Given the description of an element on the screen output the (x, y) to click on. 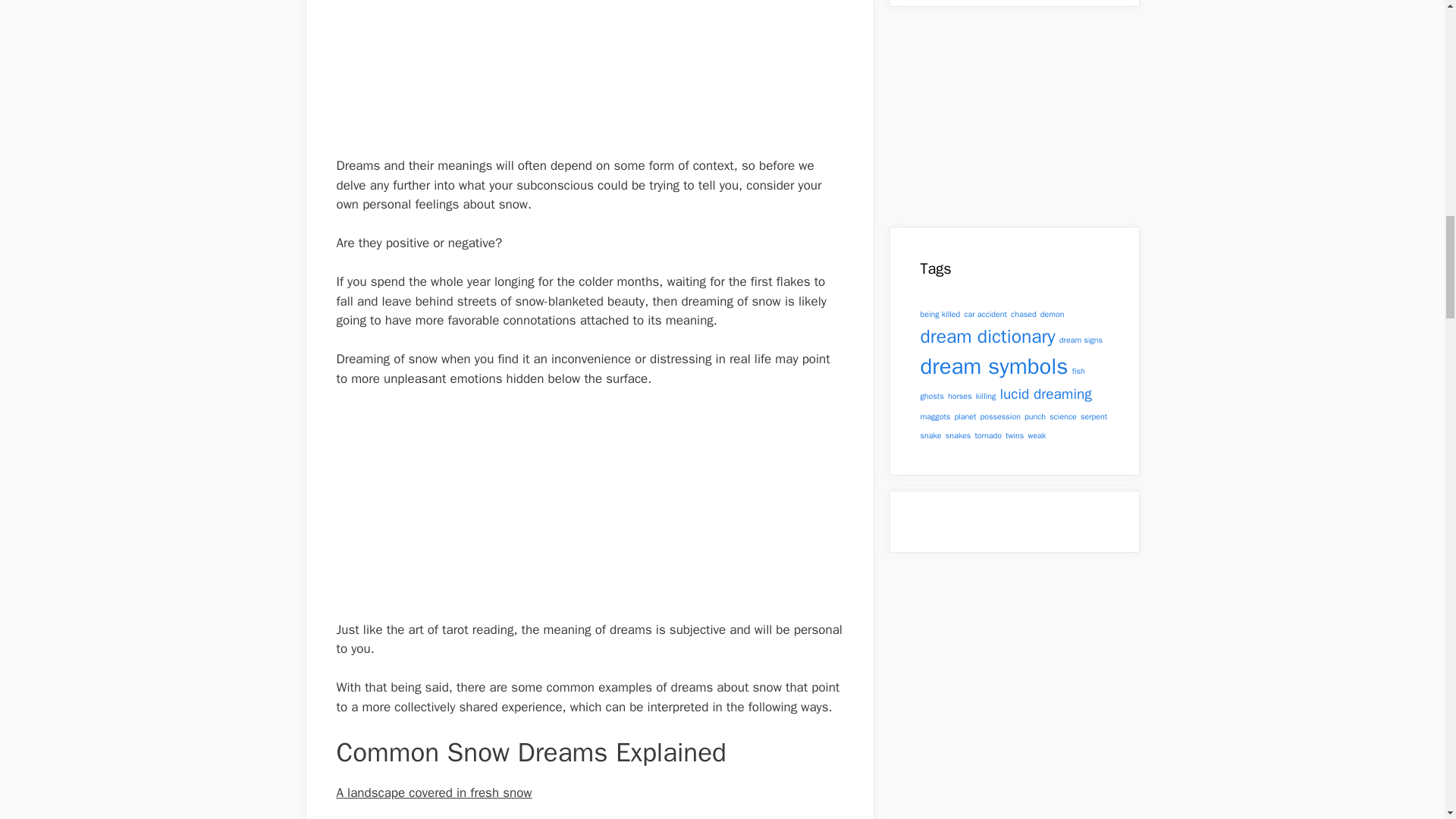
Advertisement (589, 78)
being killed (940, 314)
chased (1023, 314)
demon (1052, 314)
car accident (985, 314)
Advertisement (589, 513)
